Given the description of an element on the screen output the (x, y) to click on. 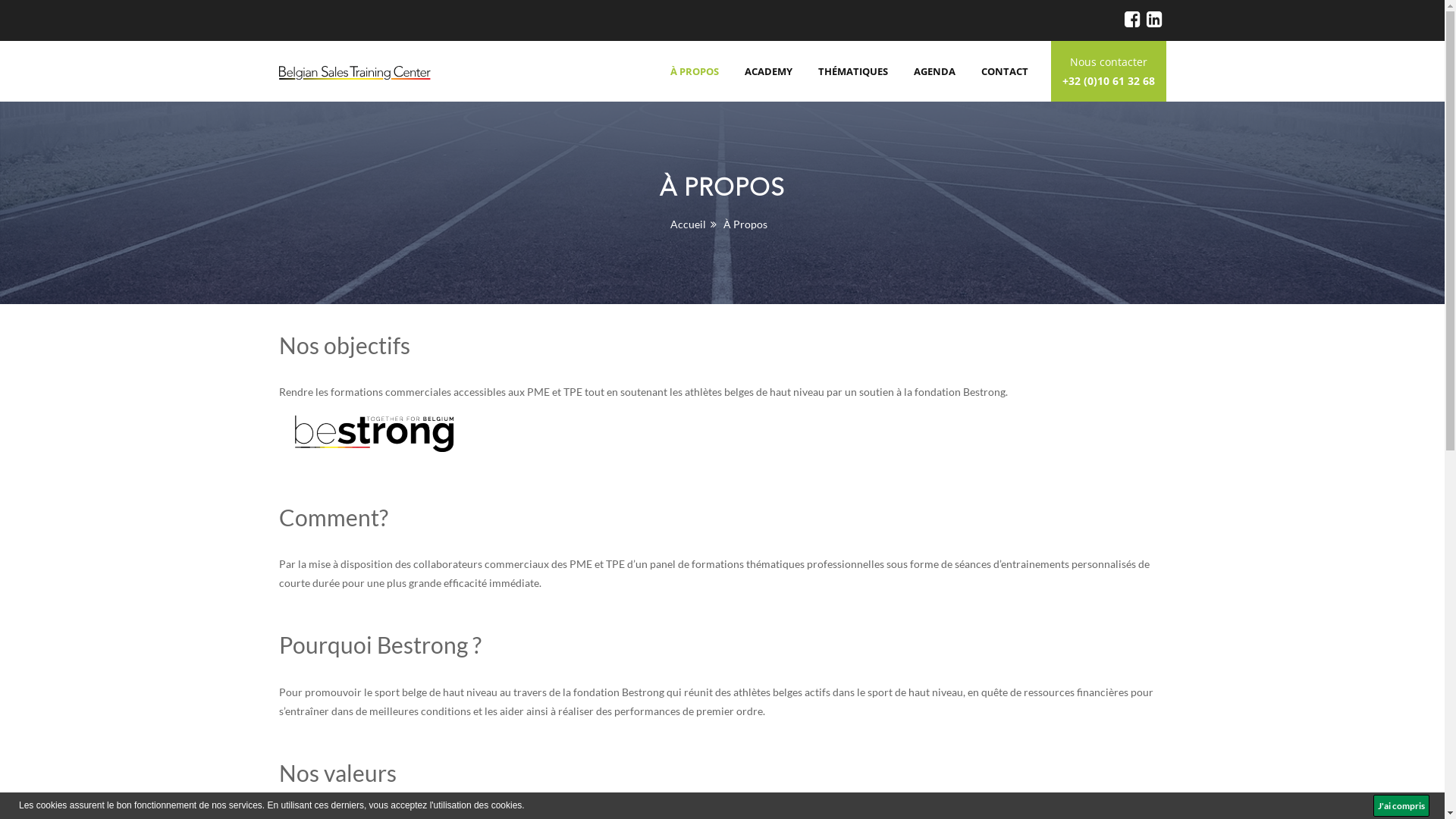
AGENDA Element type: text (933, 71)
CONTACT Element type: text (1004, 71)
Nous contacter
+32 (0)10 61 32 68 Element type: text (1108, 70)
ACADEMY Element type: text (768, 71)
Accueil Element type: text (688, 223)
